Given the description of an element on the screen output the (x, y) to click on. 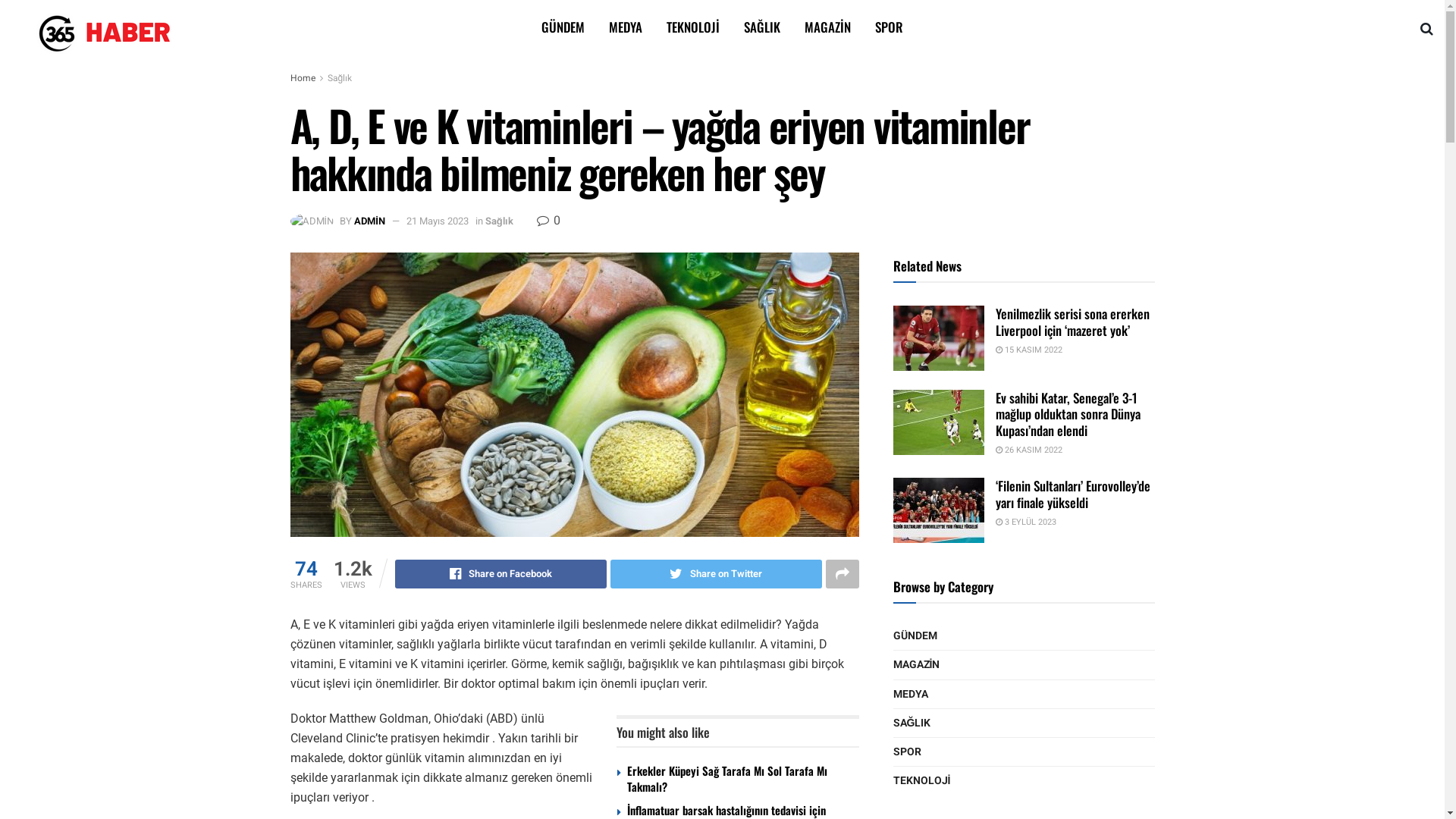
MAGAZIN Element type: text (827, 27)
ADMIN Element type: text (369, 220)
TEKNOLOJI Element type: text (921, 780)
SPOR Element type: text (888, 27)
Share on Facebook Element type: text (499, 573)
Share on Twitter Element type: text (715, 573)
MEDYA Element type: text (910, 693)
0 Element type: text (548, 220)
TEKNOLOJI Element type: text (692, 27)
Home Element type: text (301, 77)
15 KASIM 2022 Element type: text (1027, 349)
MAGAZIN Element type: text (916, 664)
26 KASIM 2022 Element type: text (1027, 449)
SPOR Element type: text (907, 751)
MEDYA Element type: text (625, 27)
